Given the description of an element on the screen output the (x, y) to click on. 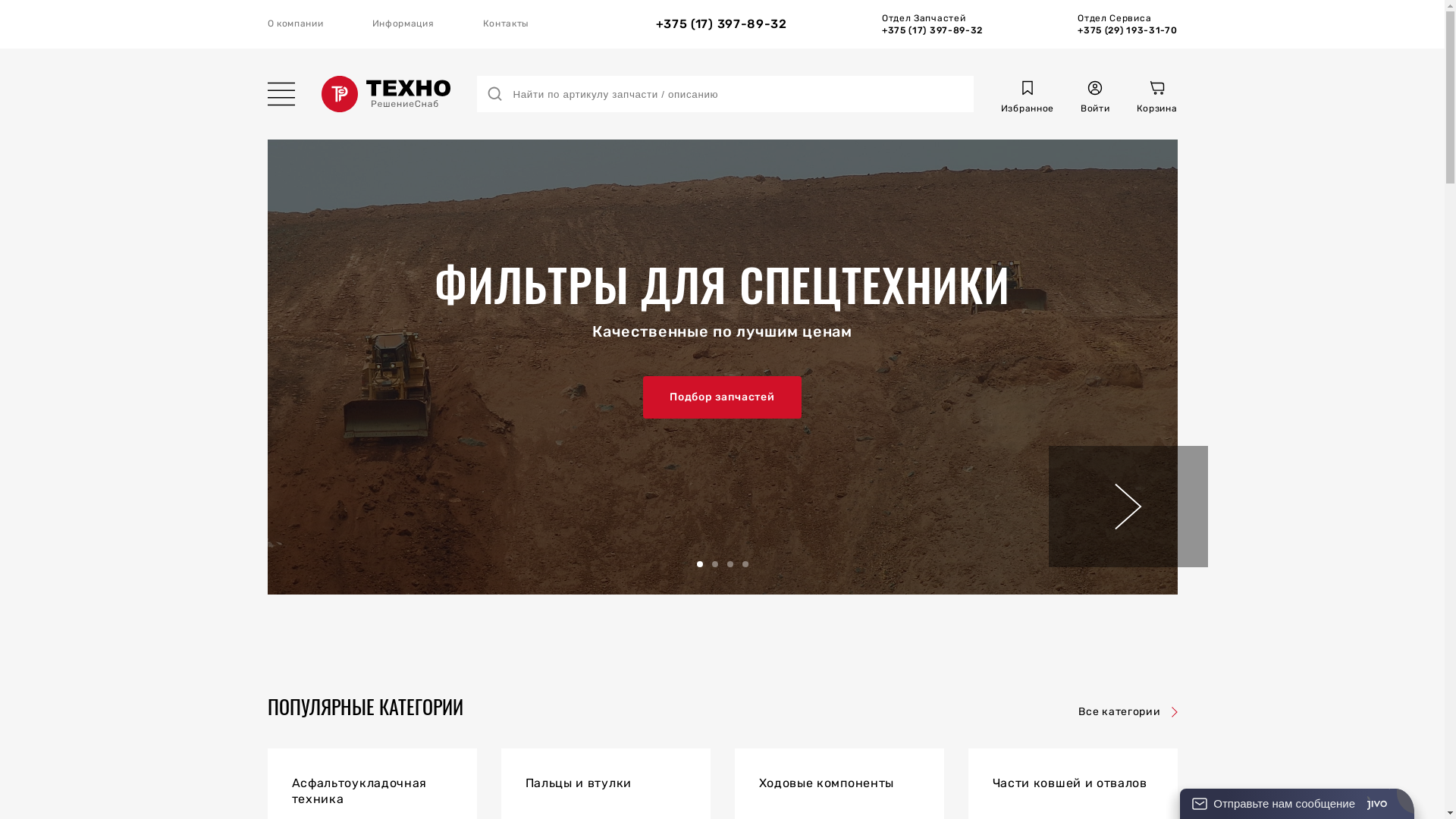
+375 (17) 397-89-32 Element type: text (721, 24)
